Given the description of an element on the screen output the (x, y) to click on. 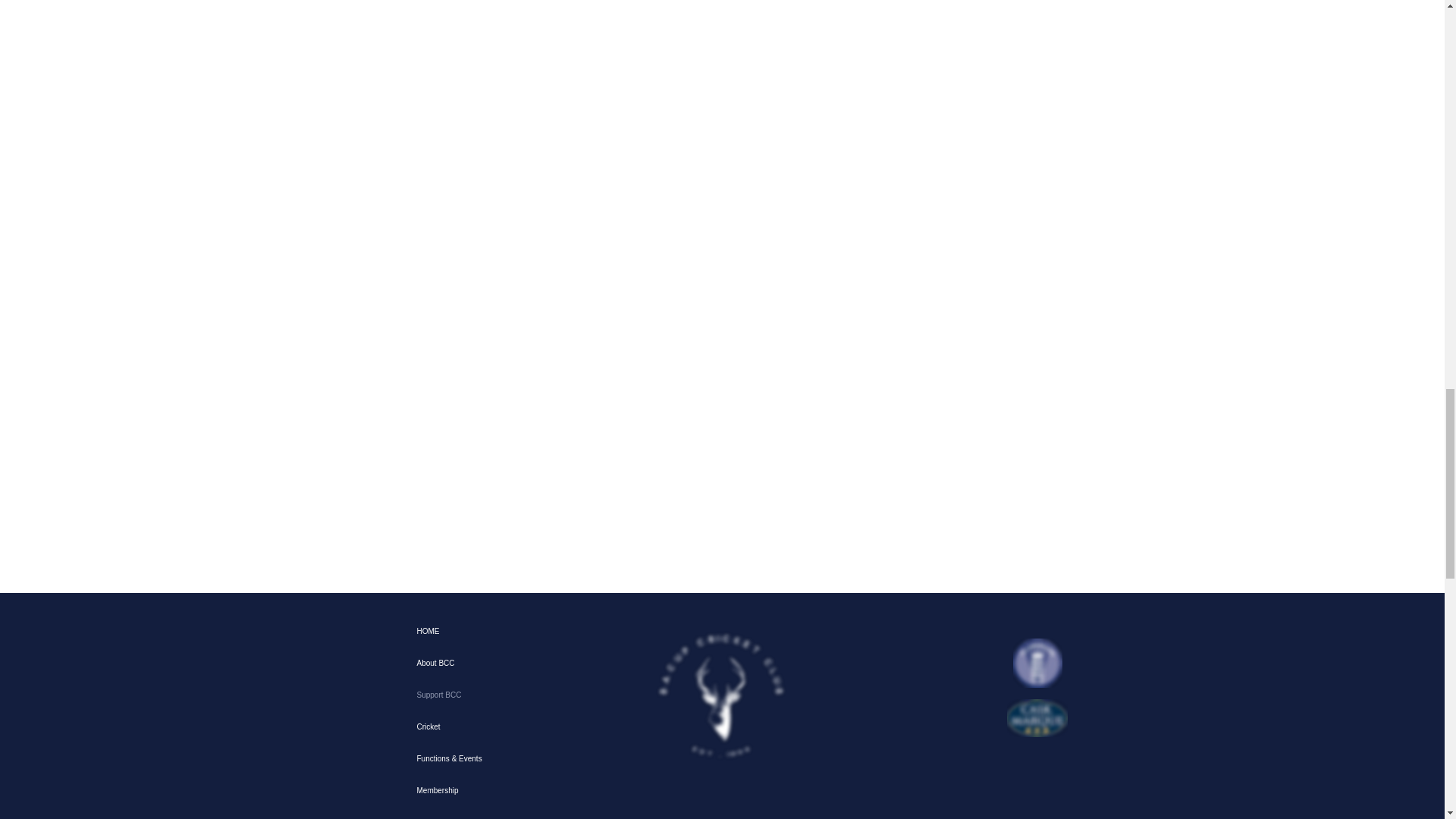
HOME (473, 631)
